Given the description of an element on the screen output the (x, y) to click on. 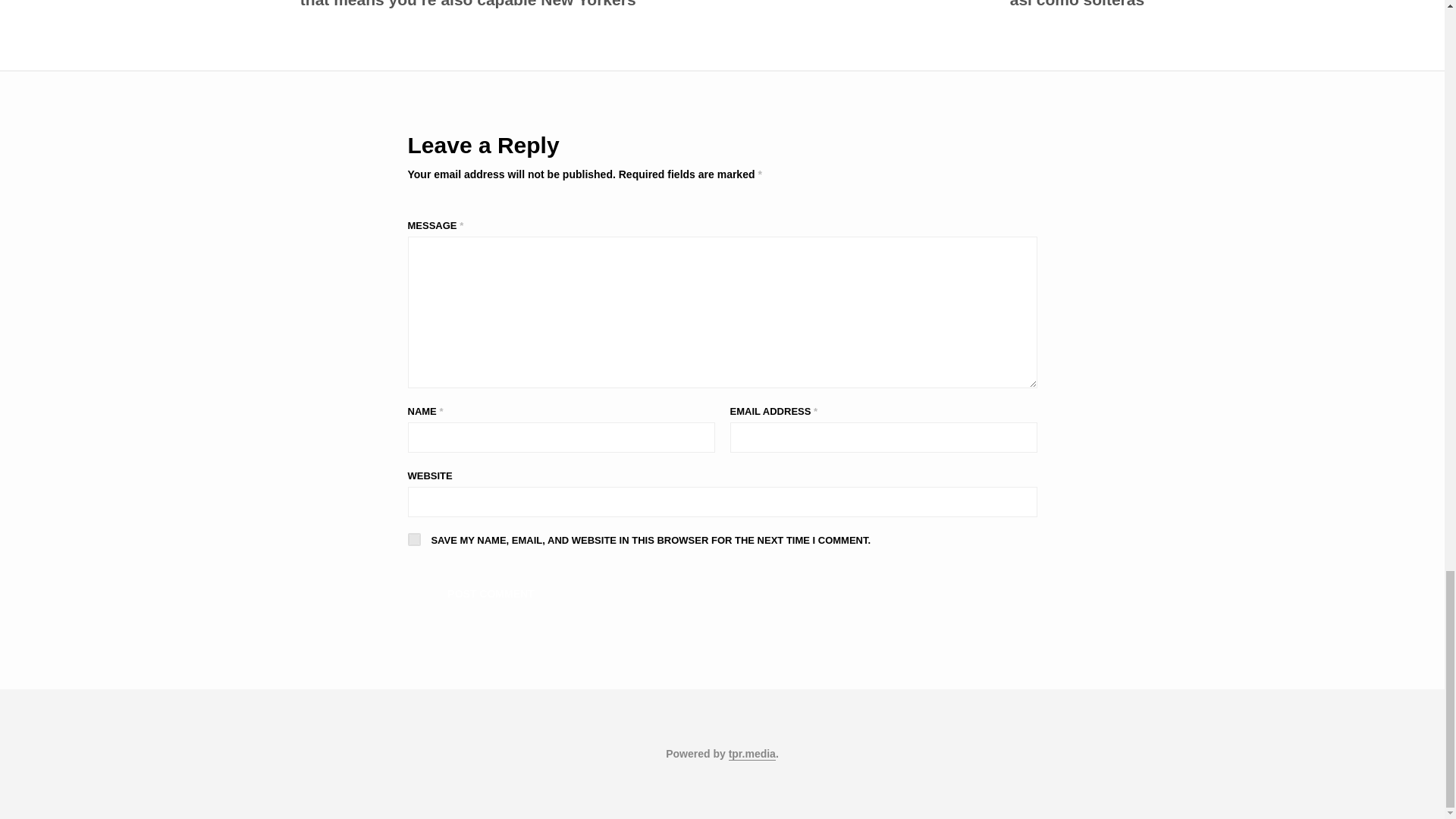
tpr.media (752, 754)
tpr.media (752, 754)
yes (413, 539)
Post Comment (491, 593)
Post Comment (491, 593)
